Given the description of an element on the screen output the (x, y) to click on. 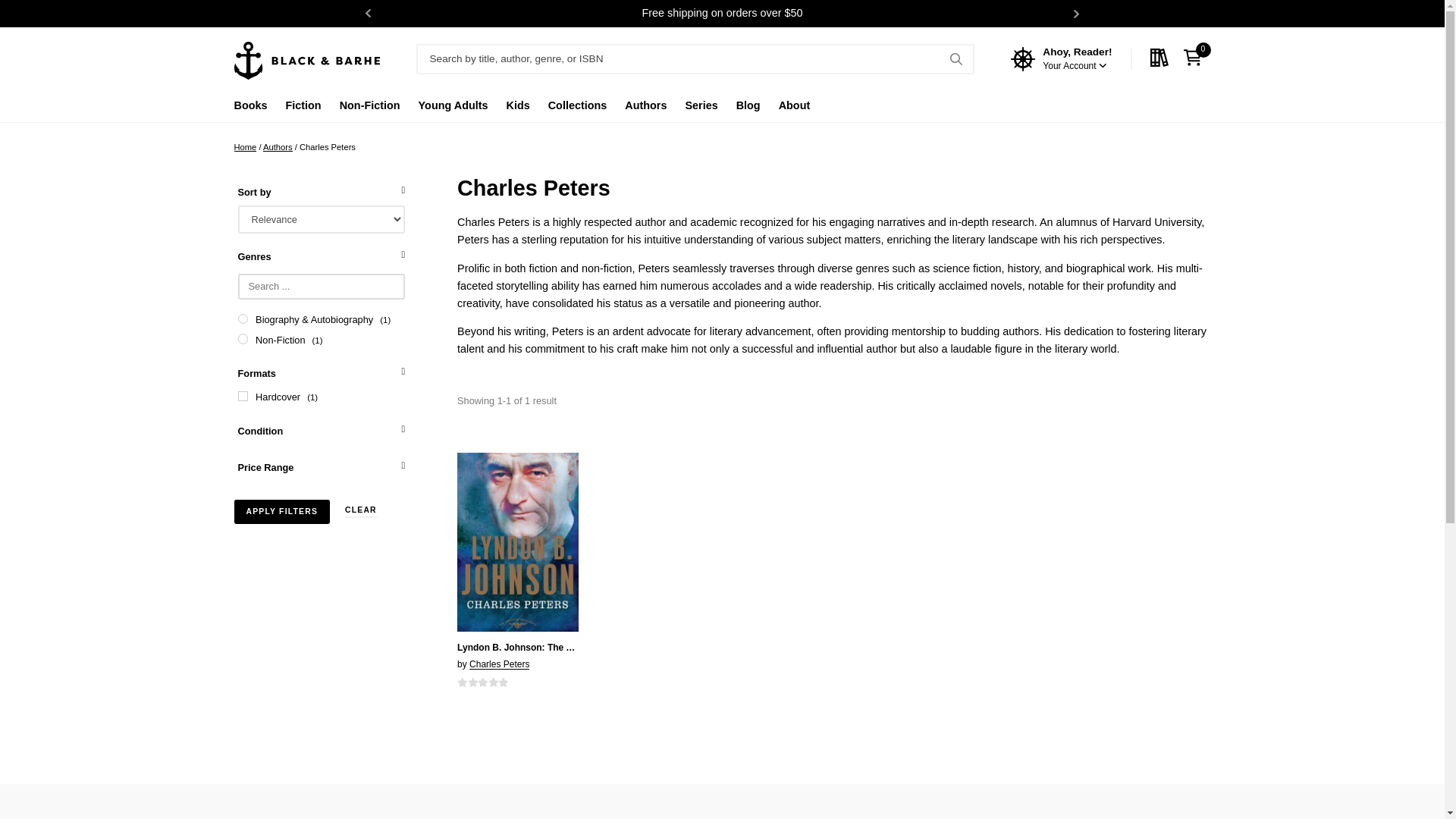
Books (249, 109)
0 (1195, 58)
Next (1076, 13)
Search for: (694, 59)
Fiction (302, 109)
No reviews yet (482, 682)
Prev (368, 13)
Customer reviews powered by Trustpilot (720, 805)
